Given the description of an element on the screen output the (x, y) to click on. 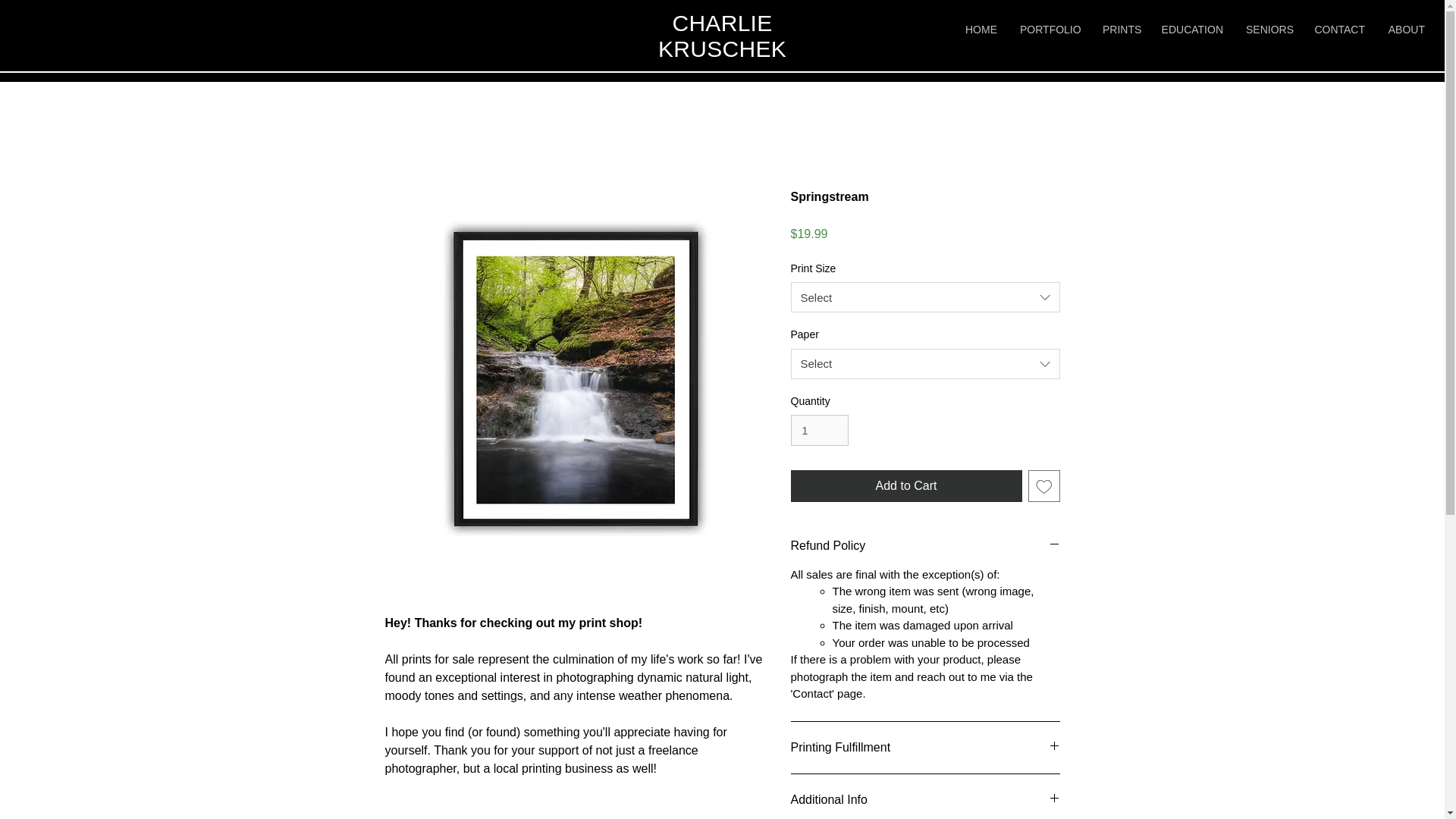
CONTACT (1338, 29)
Add to Cart (906, 486)
Printing Fulfillment (924, 747)
CHARLIE KRUSCHEK (722, 35)
HOME (981, 29)
PRINTS (1120, 29)
1 (818, 429)
ABOUT (1405, 29)
SENIORS (1267, 29)
Refund Policy (924, 545)
Select (924, 296)
Select (924, 363)
PORTFOLIO (1049, 29)
Additional Info (924, 799)
